Given the description of an element on the screen output the (x, y) to click on. 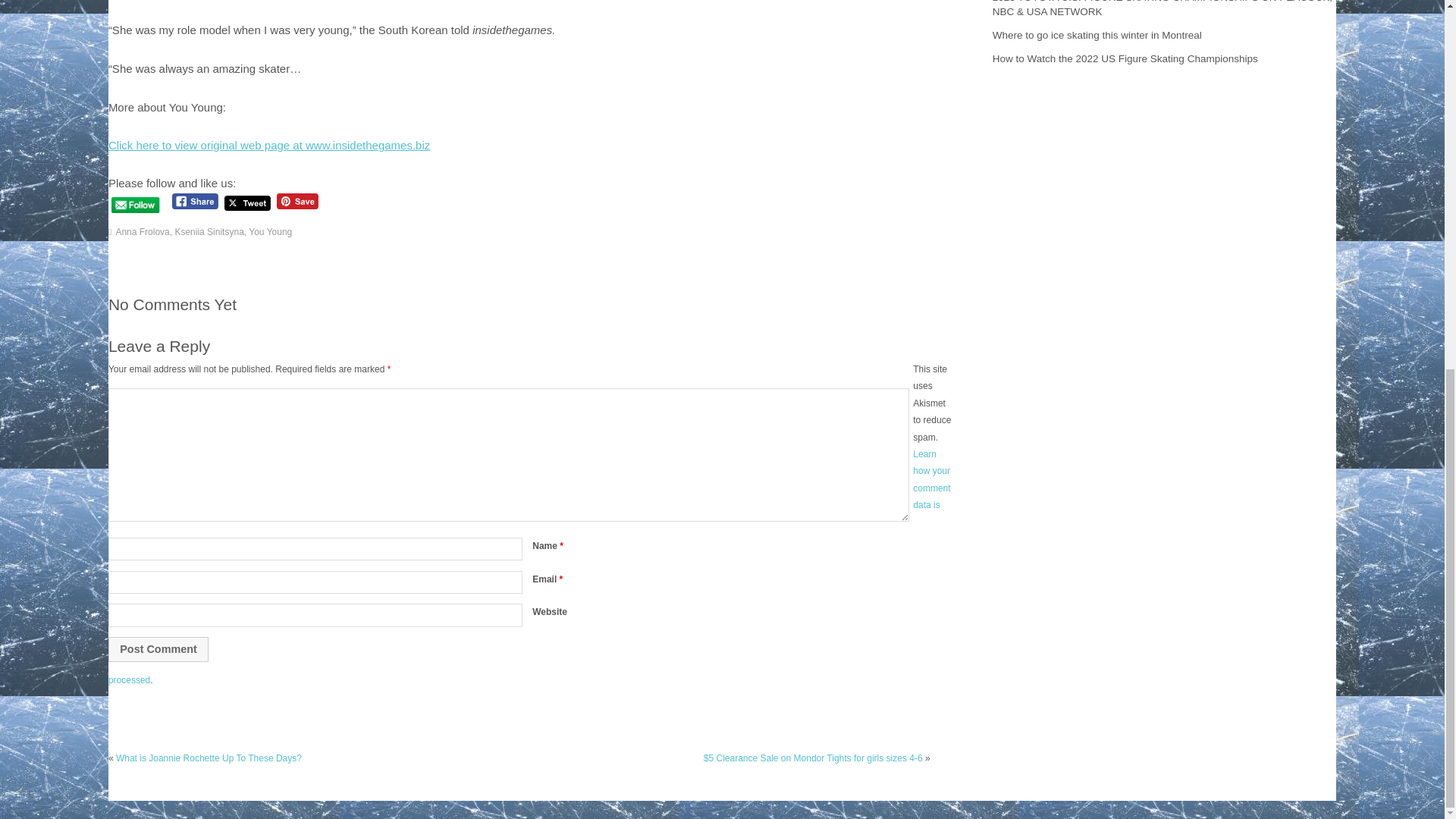
You Young (270, 231)
Anna Frolova (141, 231)
What is Joannie Rochette Up To These Days? (208, 757)
Tweet (247, 203)
Post Comment (157, 648)
Kseniia Sinitsyna (208, 231)
Post Comment (157, 648)
Pin Share (297, 201)
Facebook Share (194, 201)
